Given the description of an element on the screen output the (x, y) to click on. 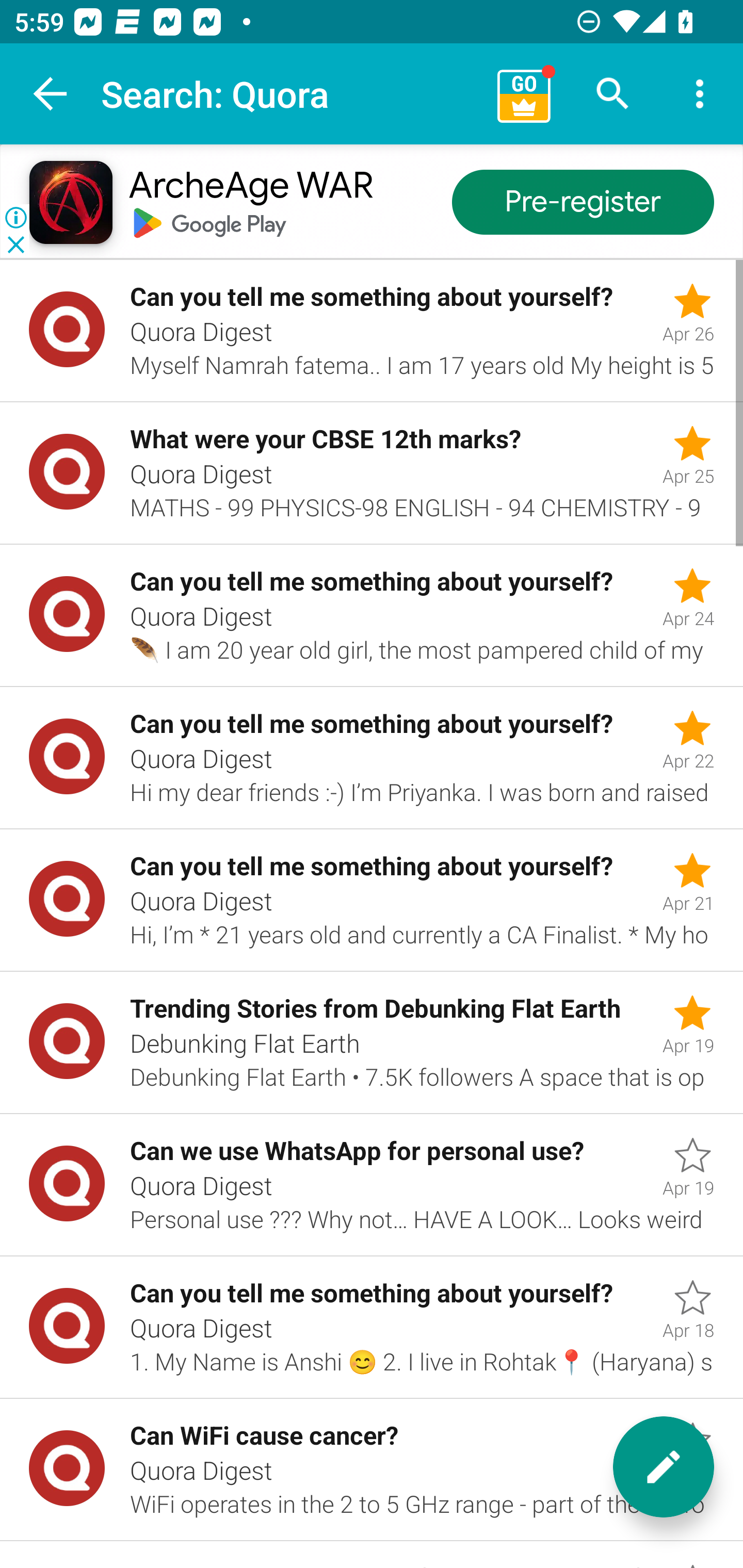
Navigate up (50, 93)
Search (612, 93)
More options (699, 93)
ArcheAge WAR (250, 186)
Pre-register (582, 202)
New message (663, 1466)
